Given the description of an element on the screen output the (x, y) to click on. 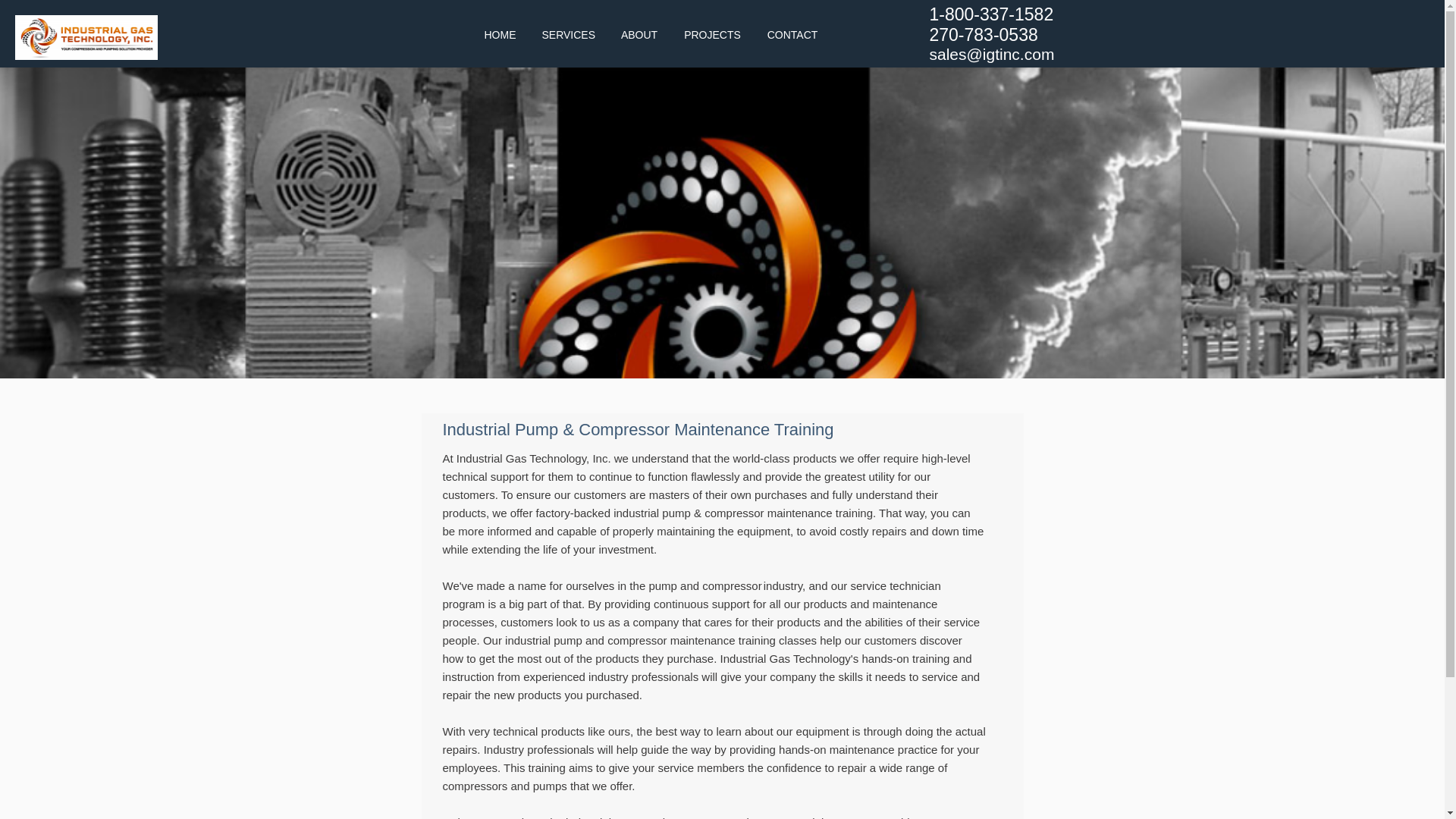
ABOUT (639, 34)
CONTACT (791, 34)
SERVICES (569, 34)
PROJECTS (711, 34)
HOME (500, 34)
